Given the description of an element on the screen output the (x, y) to click on. 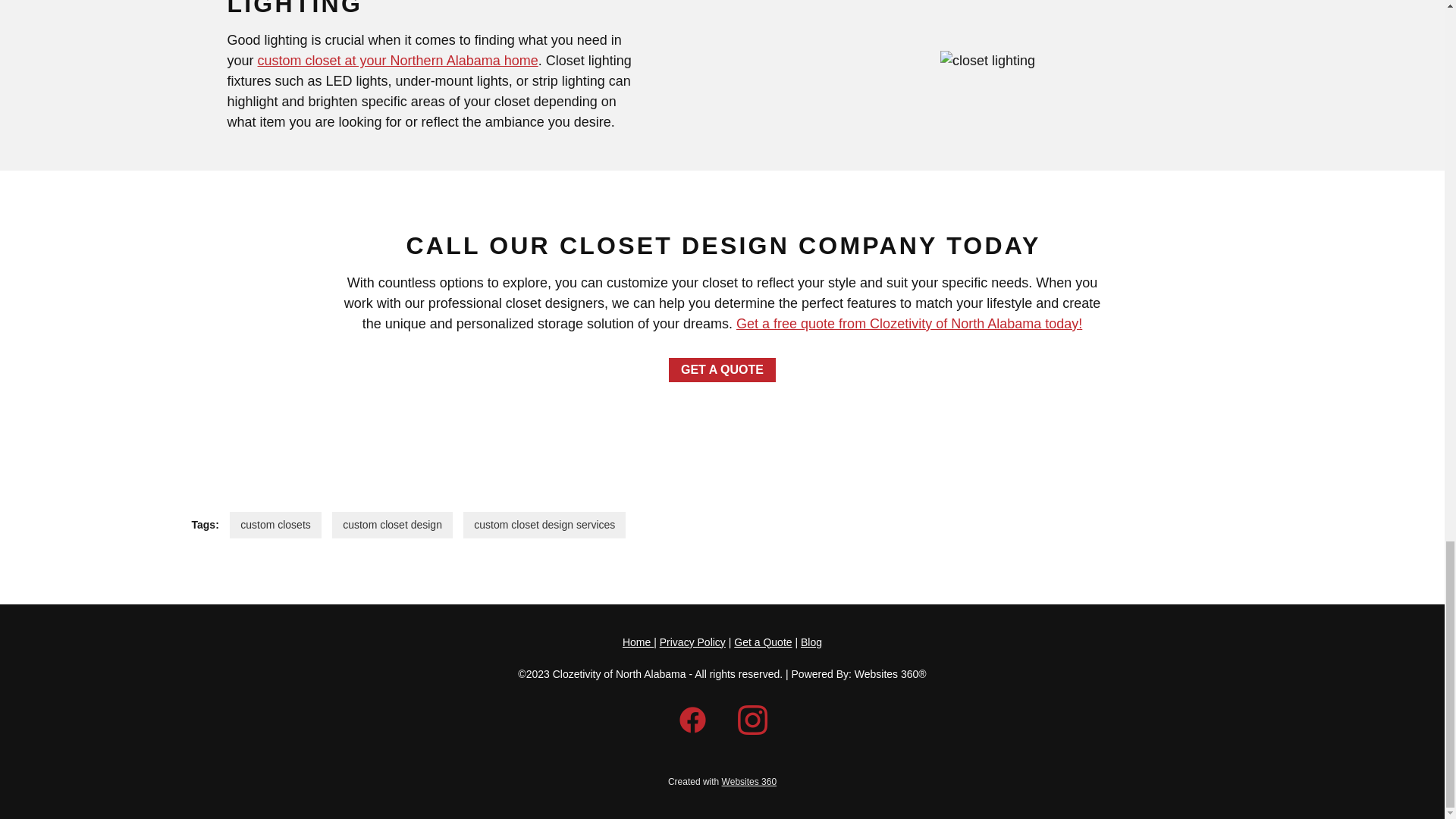
custom closet at your Northern Alabama home (397, 60)
custom closet design services (544, 524)
Get a free quote from Clozetivity of North Alabama today! (908, 323)
custom closets (275, 524)
GET A QUOTE (722, 369)
closet lighting (987, 60)
custom closet design (391, 524)
